Given the description of an element on the screen output the (x, y) to click on. 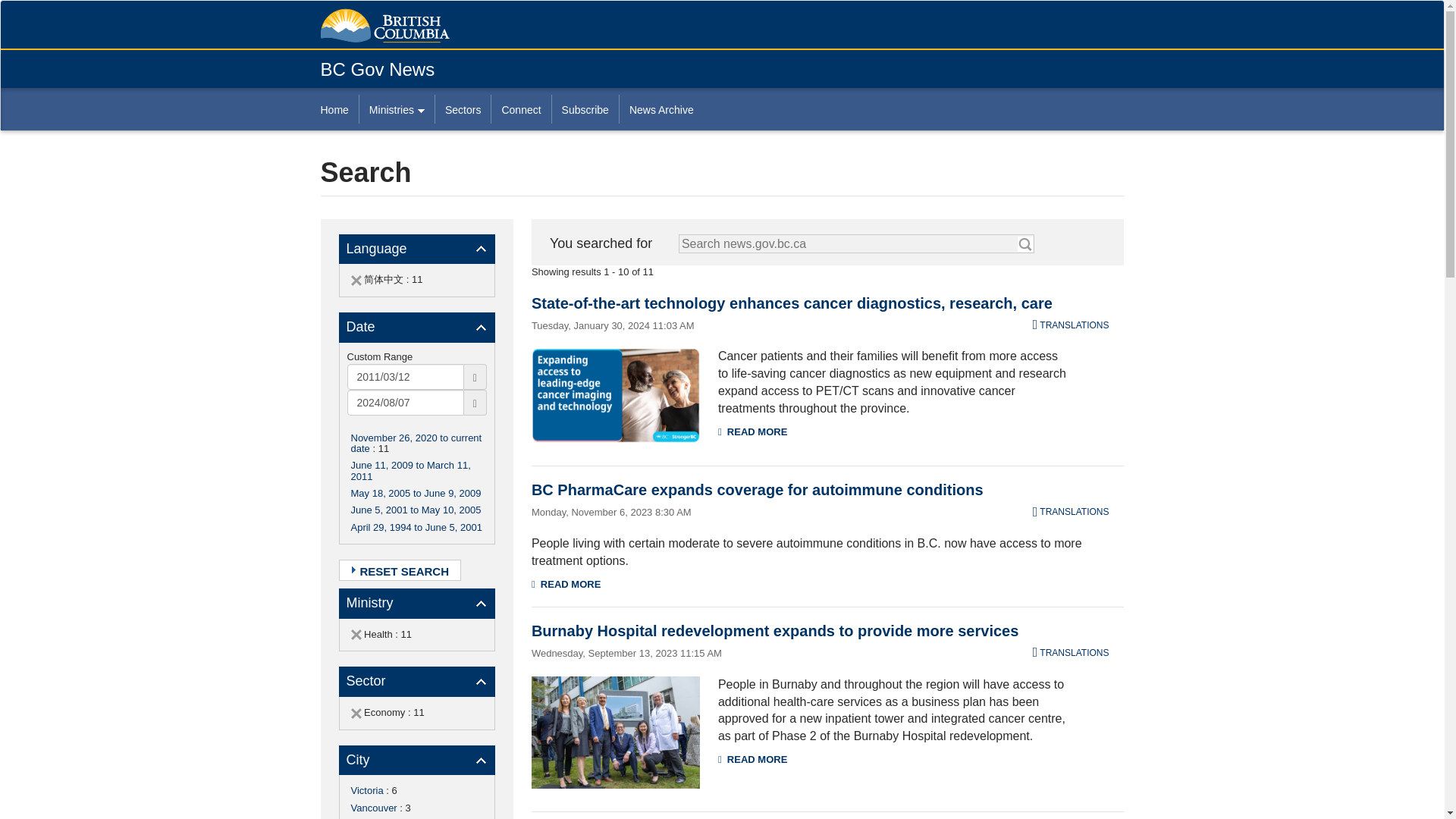
BC Gov News (376, 68)
Connect (520, 109)
Home (339, 109)
Sectors (461, 109)
Subscribe (584, 109)
Ministries (395, 109)
Government of B.C. (384, 25)
News Archive (660, 109)
